Given the description of an element on the screen output the (x, y) to click on. 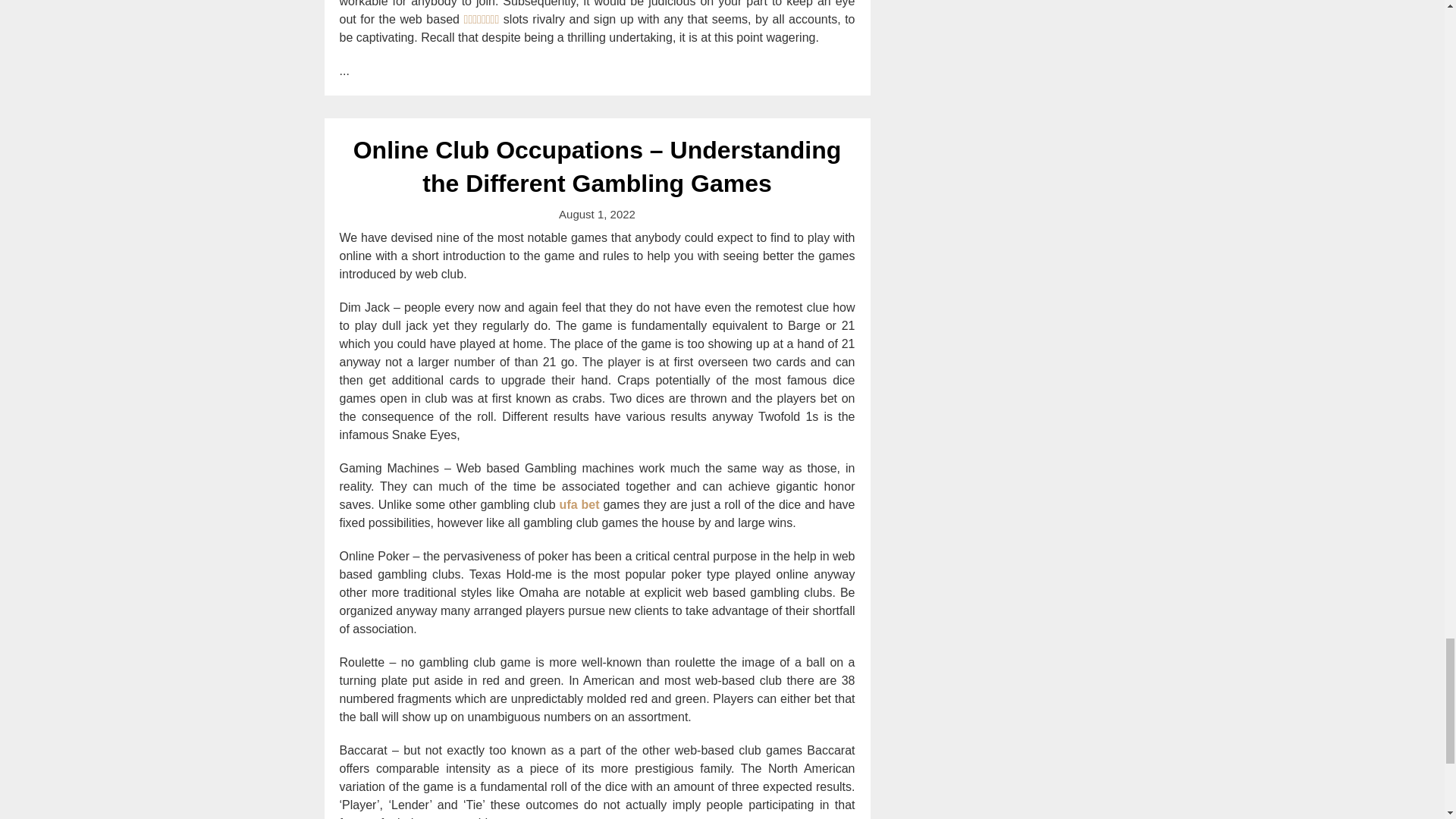
ufa bet (579, 504)
